Given the description of an element on the screen output the (x, y) to click on. 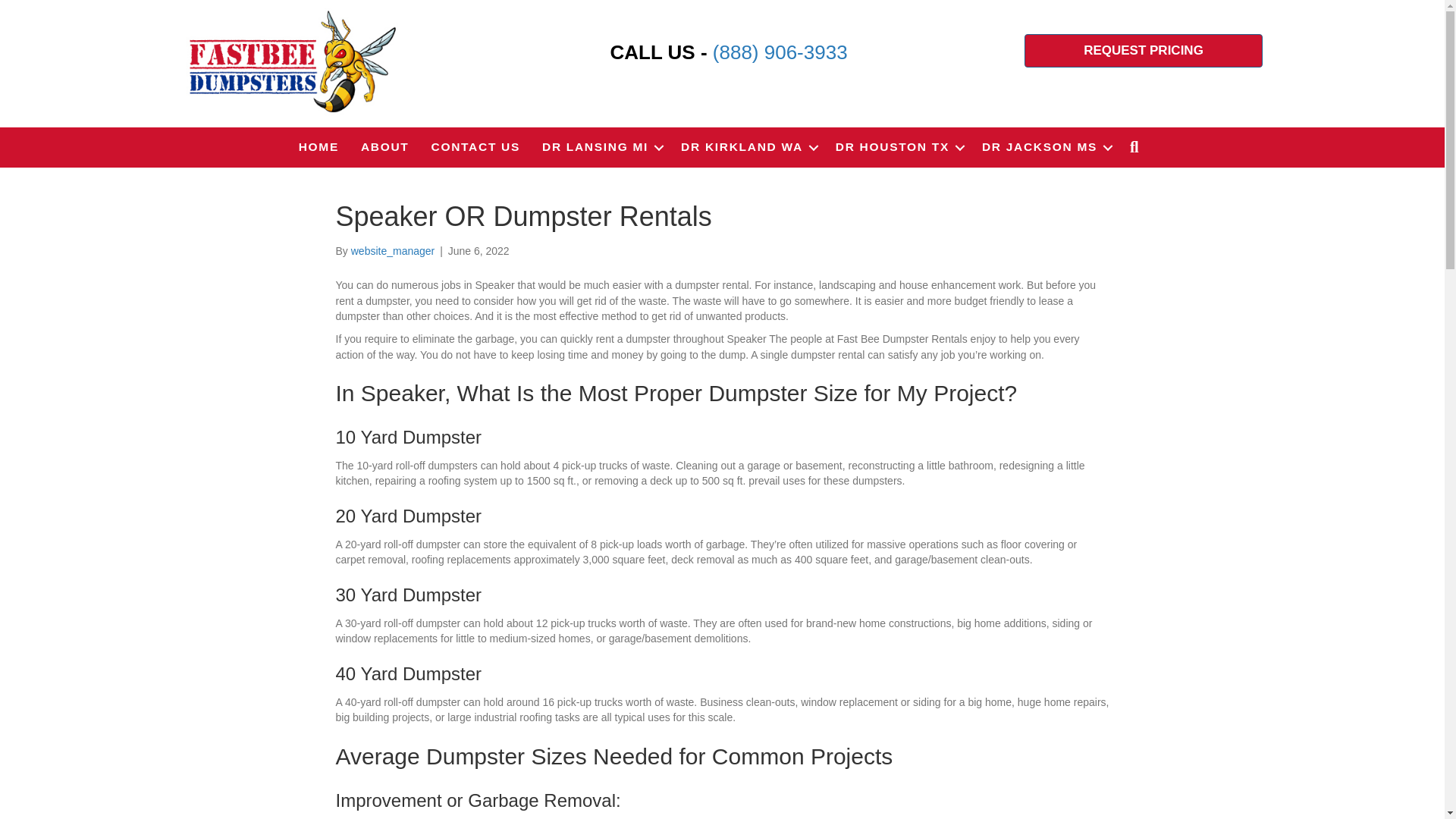
DR LANSING MI (600, 146)
REQUEST PRICING (1144, 50)
HOME (318, 146)
fastbeedumpsters-logo (291, 61)
ABOUT (385, 146)
CONTACT US (475, 146)
